Given the description of an element on the screen output the (x, y) to click on. 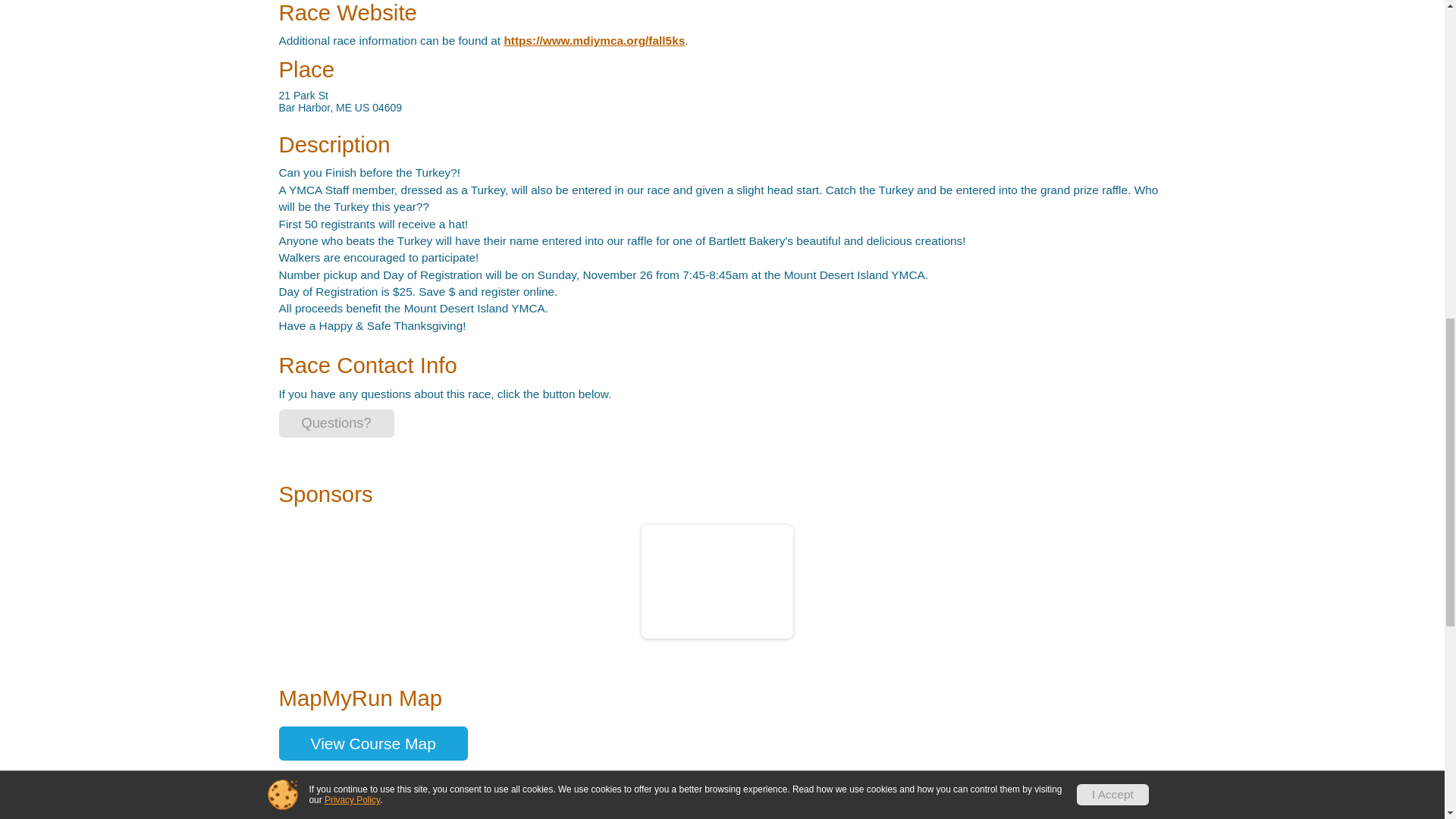
Questions? (336, 423)
View Course Map (373, 743)
